Given the description of an element on the screen output the (x, y) to click on. 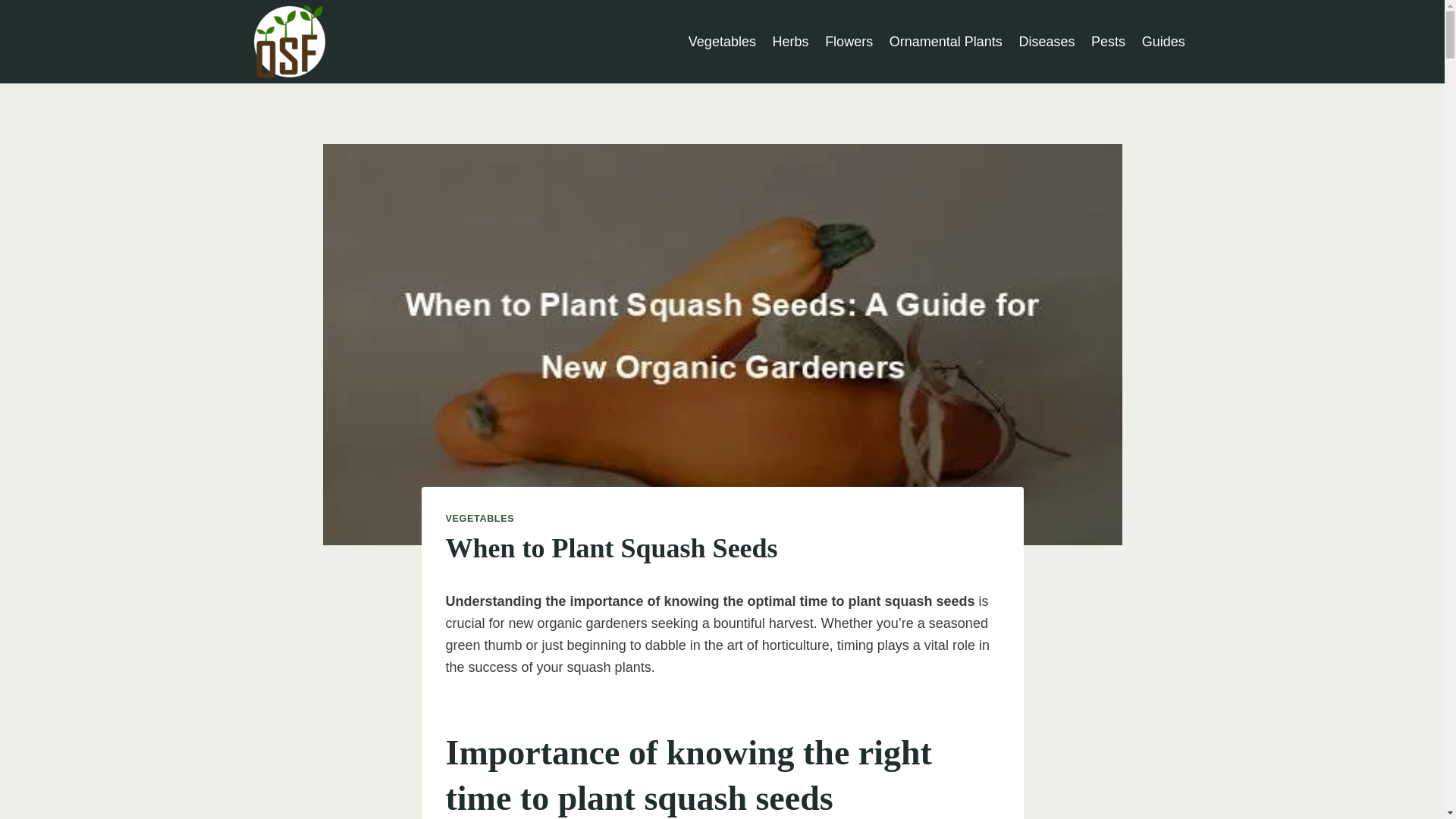
VEGETABLES (480, 518)
Pests (1108, 41)
Vegetables (721, 41)
Diseases (1046, 41)
Flowers (848, 41)
Ornamental Plants (945, 41)
Herbs (790, 41)
Guides (1163, 41)
